Given the description of an element on the screen output the (x, y) to click on. 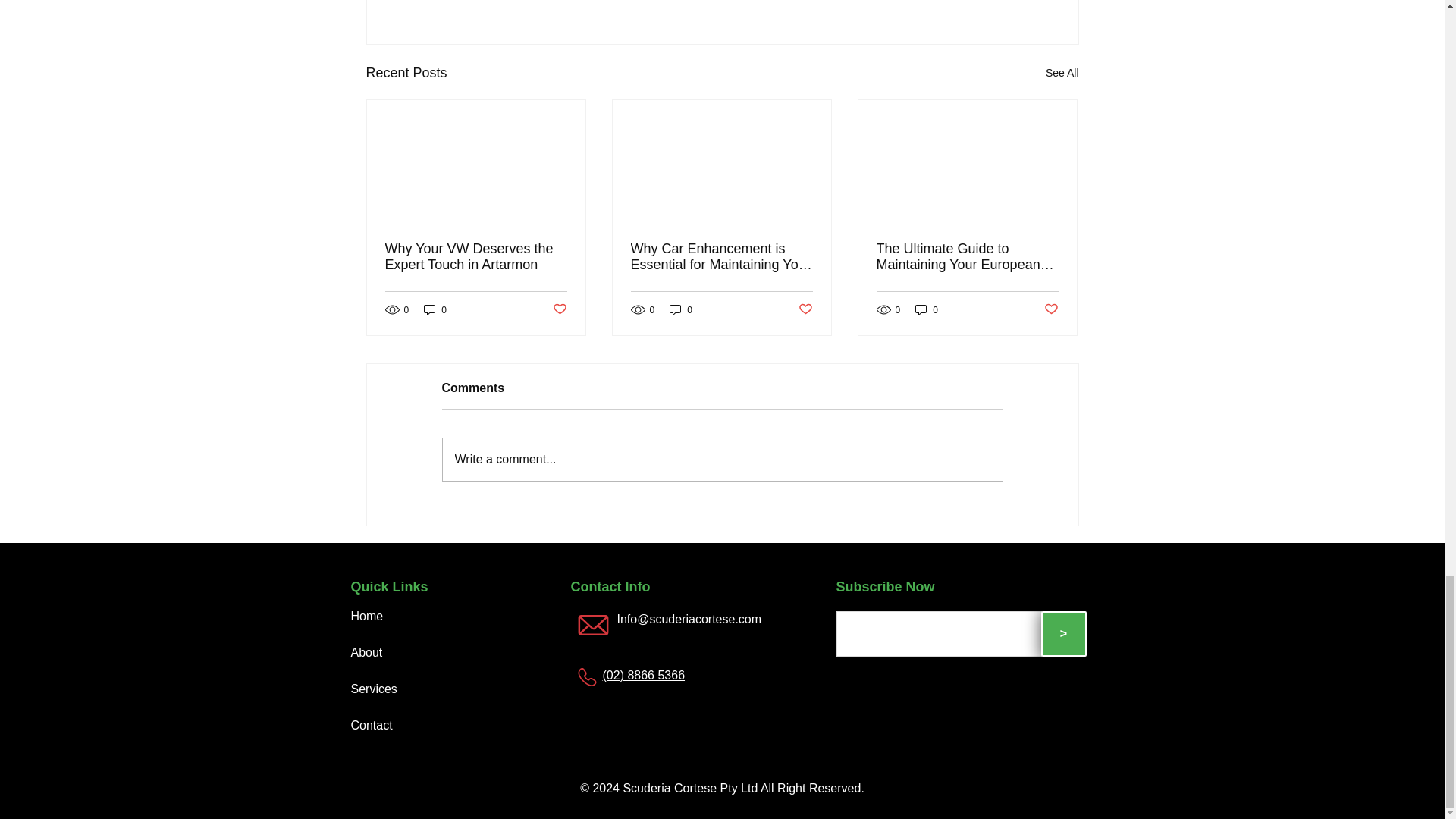
Home (366, 615)
0 (926, 309)
About  (367, 652)
Why Your VW Deserves the Expert Touch in Artarmon (476, 256)
0 (681, 309)
0 (435, 309)
See All (1061, 73)
Post not marked as liked (804, 309)
Post not marked as liked (1050, 309)
Write a comment... (722, 459)
Post not marked as liked (558, 309)
